Given the description of an element on the screen output the (x, y) to click on. 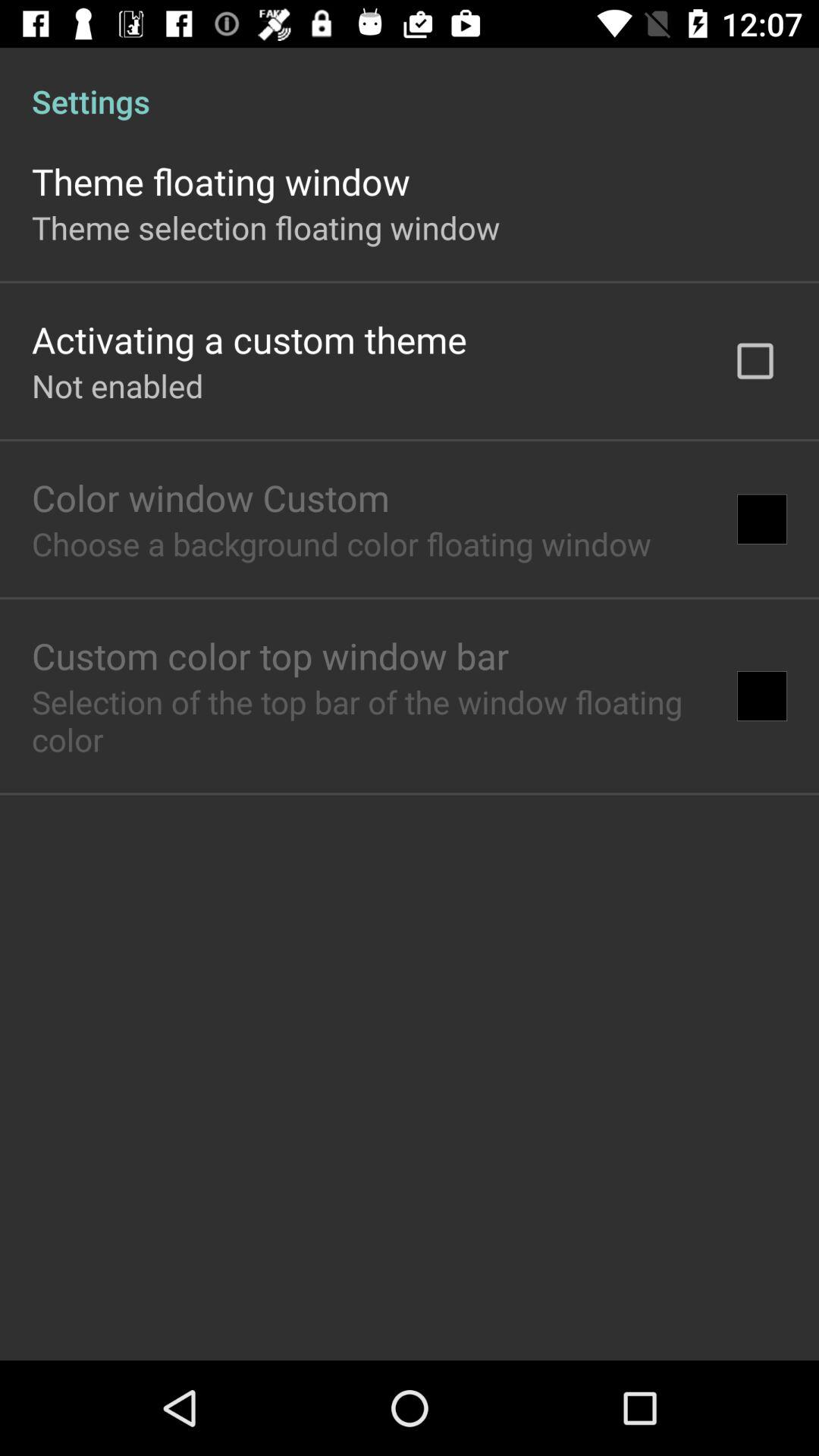
turn off the choose a background app (341, 543)
